Given the description of an element on the screen output the (x, y) to click on. 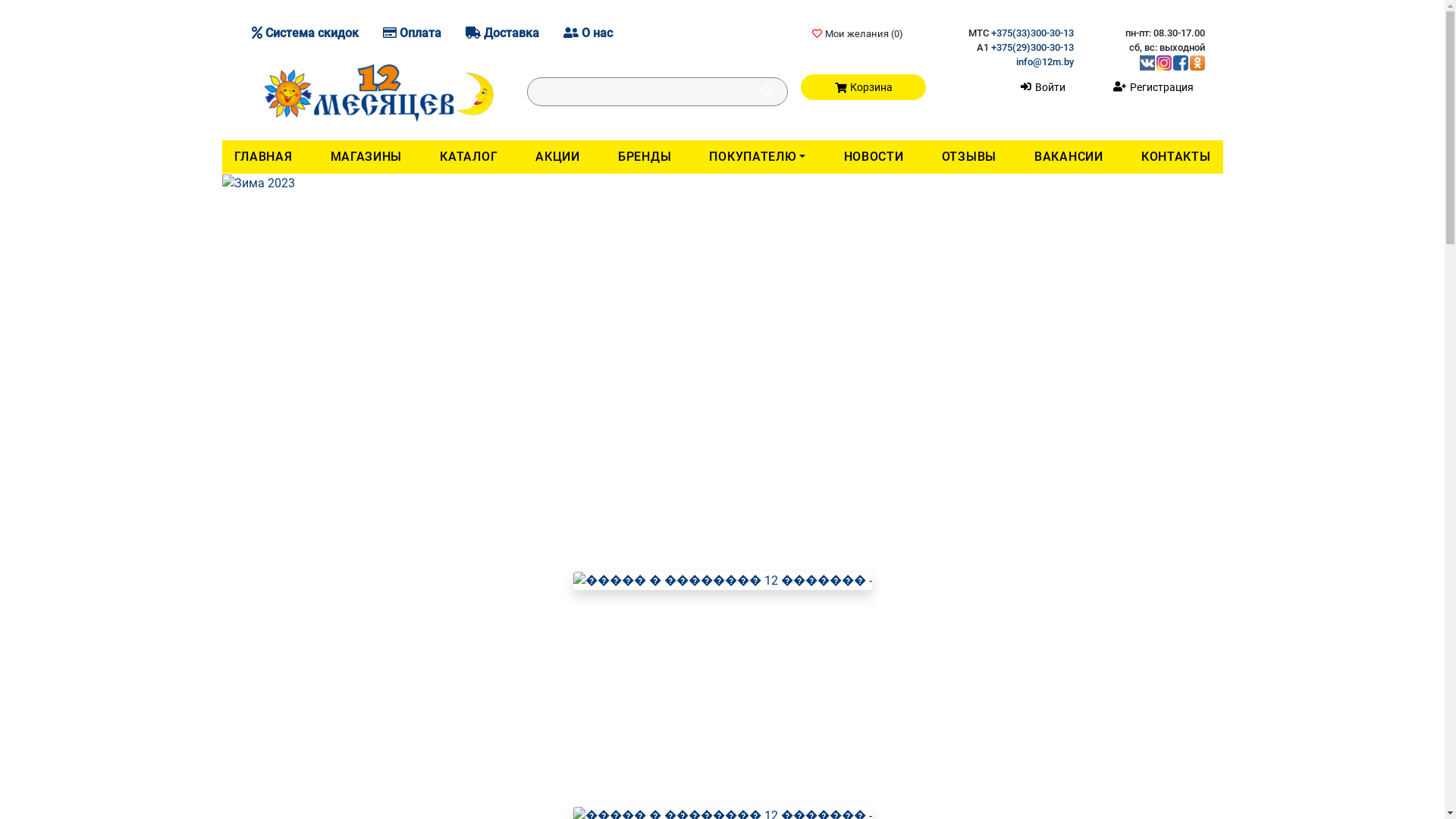
info@12m.by Element type: text (1044, 61)
+375(33)300-30-13 Element type: text (1032, 32)
+375(29)300-30-13 Element type: text (1032, 47)
